Given the description of an element on the screen output the (x, y) to click on. 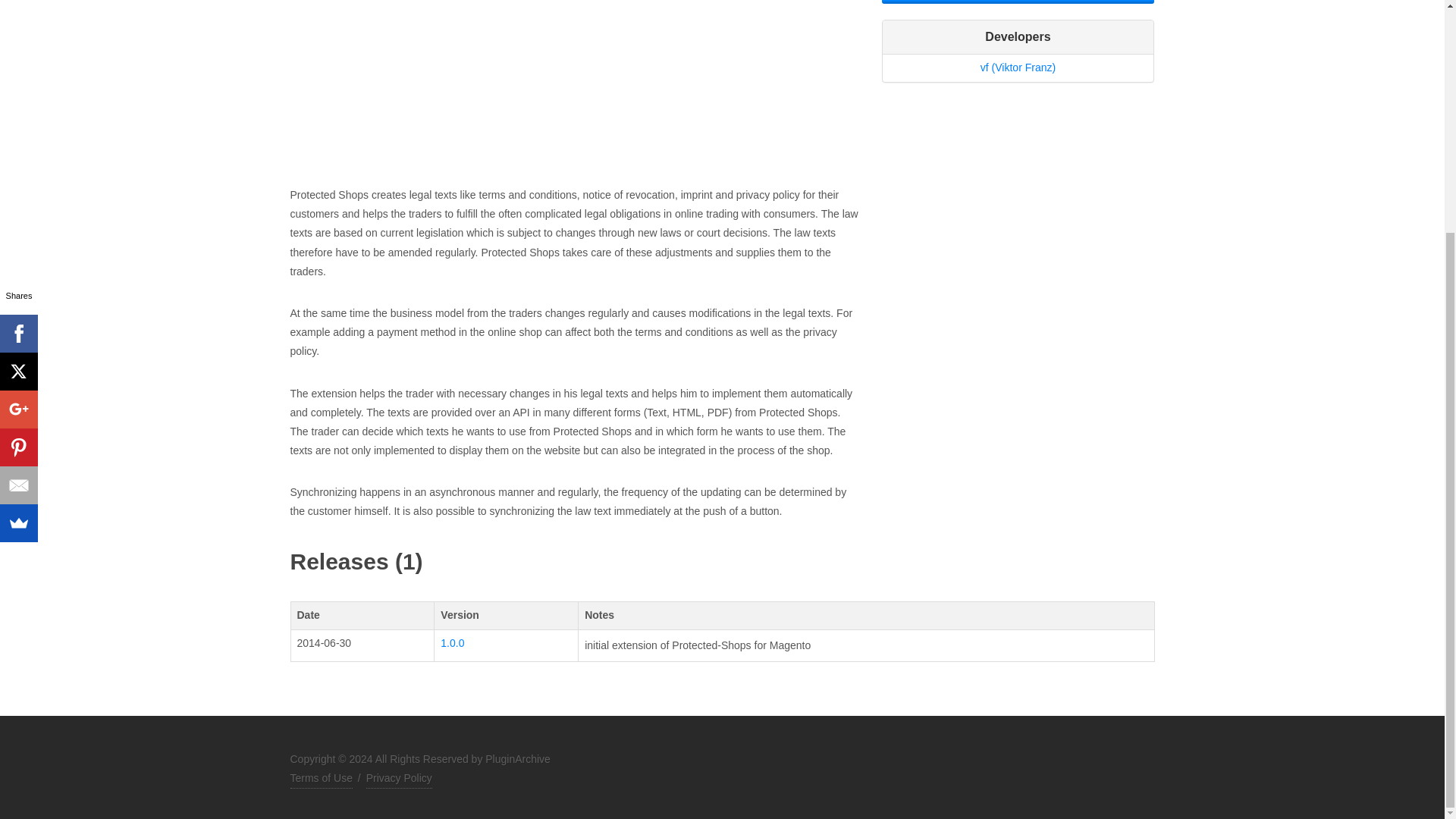
SumoMe (18, 207)
Privacy Policy (399, 778)
Facebook (18, 18)
DOWNLOAD LATEST - 1.0.0 (1017, 2)
X (18, 55)
Pinterest (18, 130)
Advertisement (574, 92)
Email (18, 168)
Terms of Use (320, 778)
1.0.0 (452, 643)
Advertisement (1017, 203)
